Given the description of an element on the screen output the (x, y) to click on. 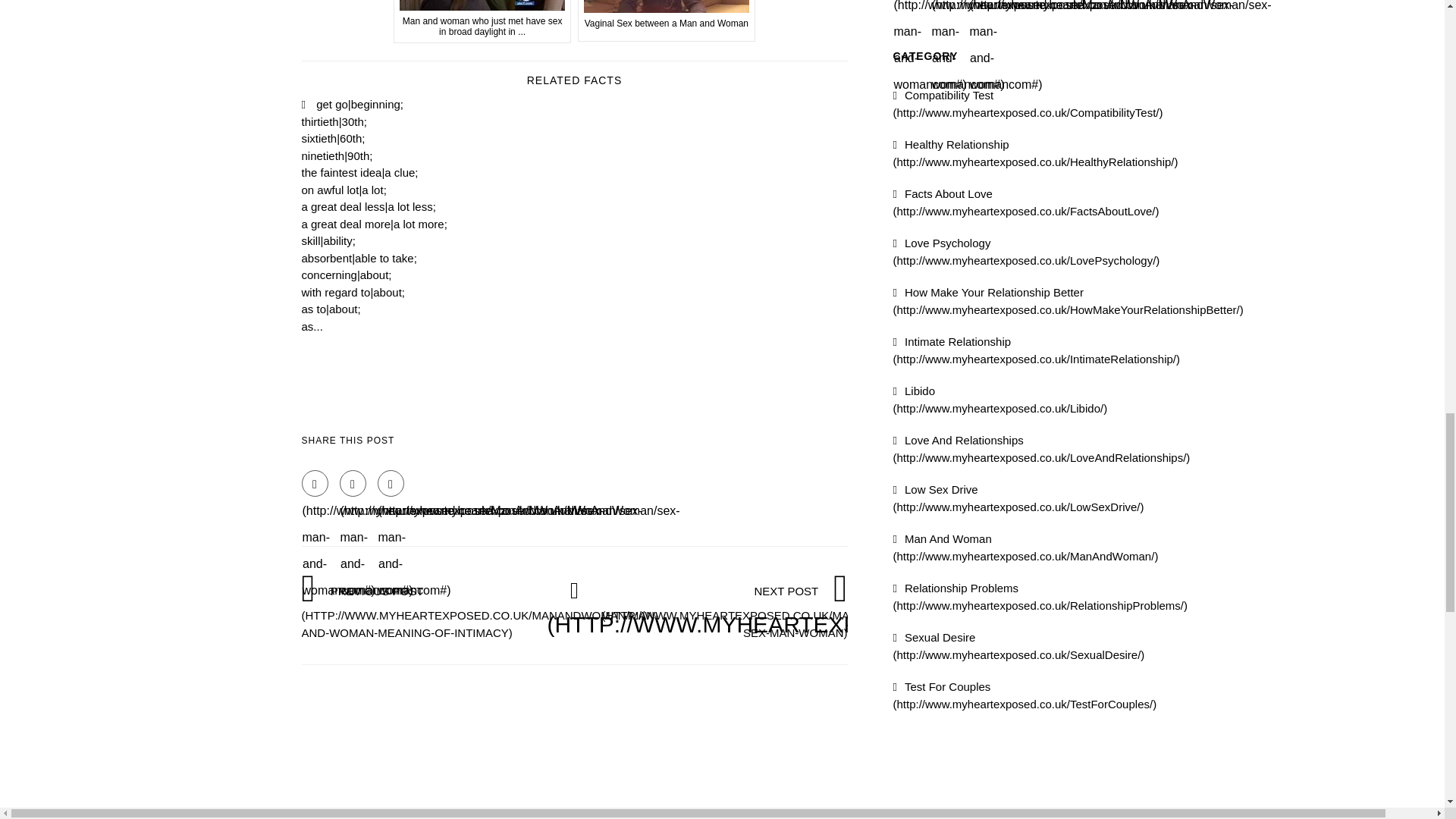
View all posts filed under Compatibility Test (1028, 103)
View all posts filed under How Make Your Relationship Better (1068, 300)
NEXT POST (781, 611)
Twitter (352, 483)
View all posts filed under Love Psychology (1026, 251)
View all posts filed under Low Sex Drive (1018, 498)
View all posts filed under Libido (1000, 399)
View all posts filed under Healthy Relationship (1035, 153)
View this video from YouTube (666, 20)
Google Plus (390, 483)
Facebook (315, 483)
View all posts filed under Love And Relationships (1042, 449)
PREVIOUS POST (480, 611)
View all posts filed under Facts About Love (1025, 202)
View all posts filed under Intimate Relationship (1036, 349)
